Given the description of an element on the screen output the (x, y) to click on. 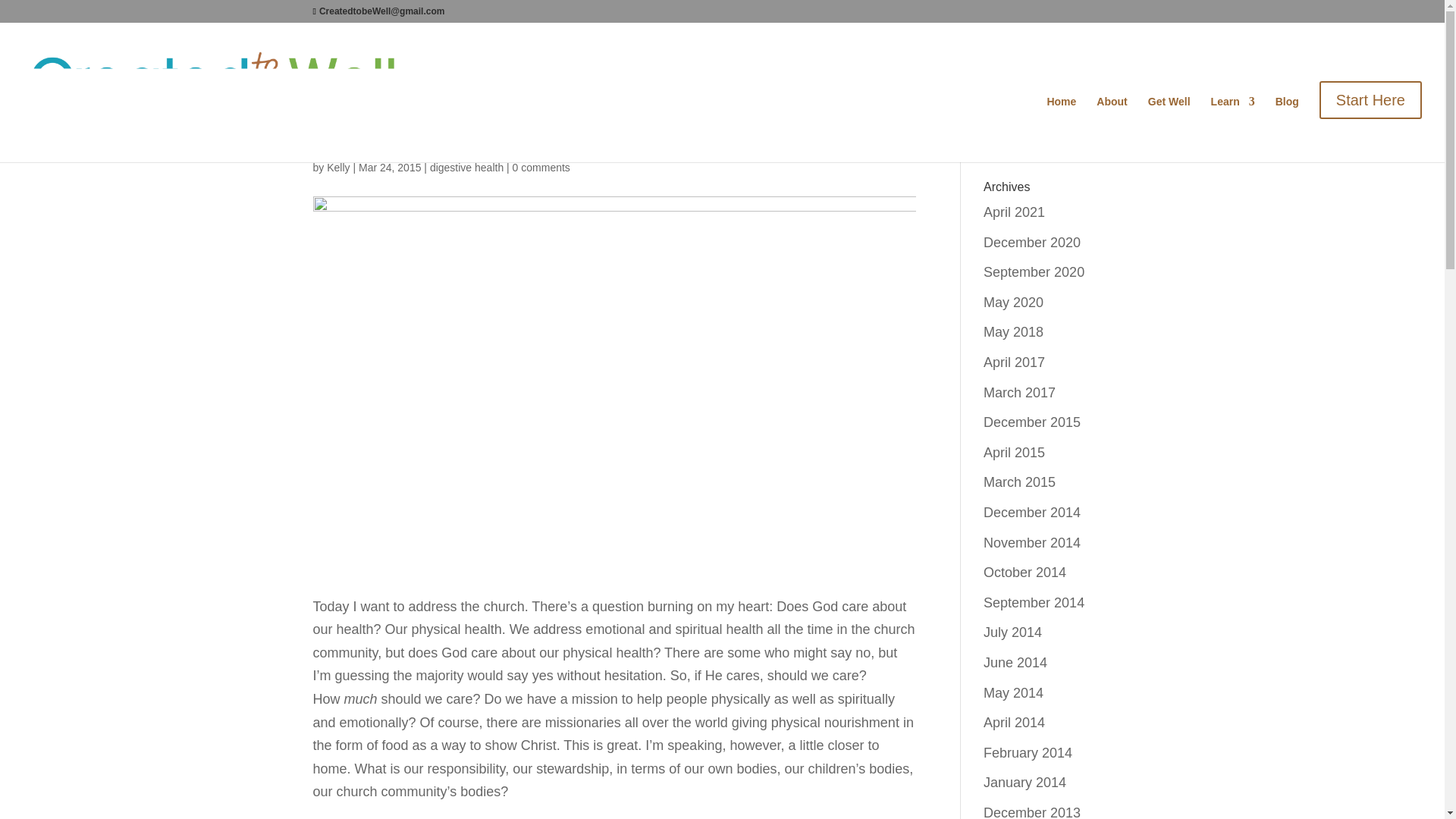
May 2020 (1013, 302)
April 2015 (1014, 452)
December 2020 (1032, 242)
March 2017 (1019, 392)
April 2017 (1014, 362)
September 2020 (1034, 272)
September 2014 (1034, 602)
0 comments (541, 167)
December 2014 (1032, 512)
April 2021 (1014, 212)
